Given the description of an element on the screen output the (x, y) to click on. 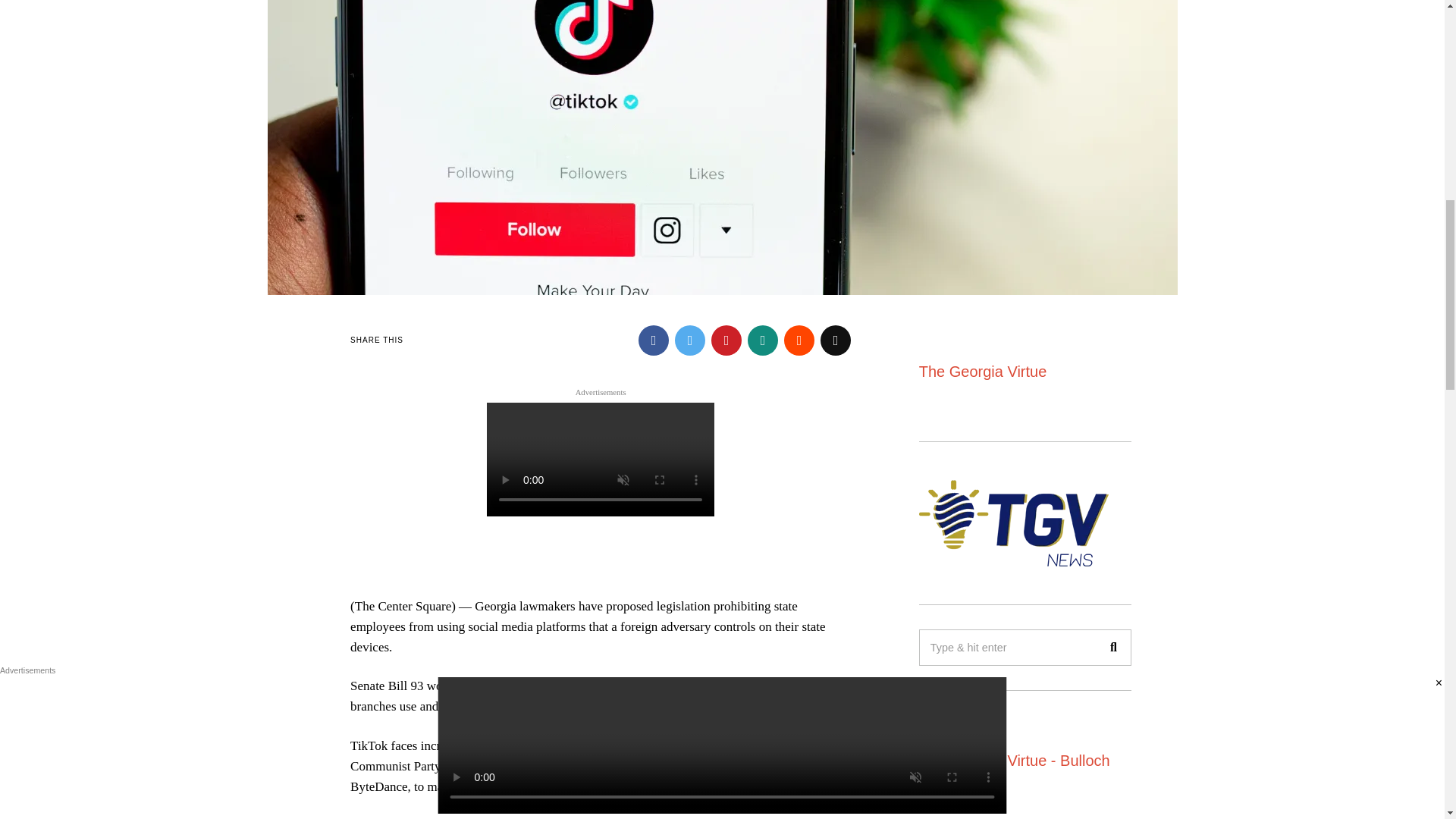
Go (1112, 647)
